Given the description of an element on the screen output the (x, y) to click on. 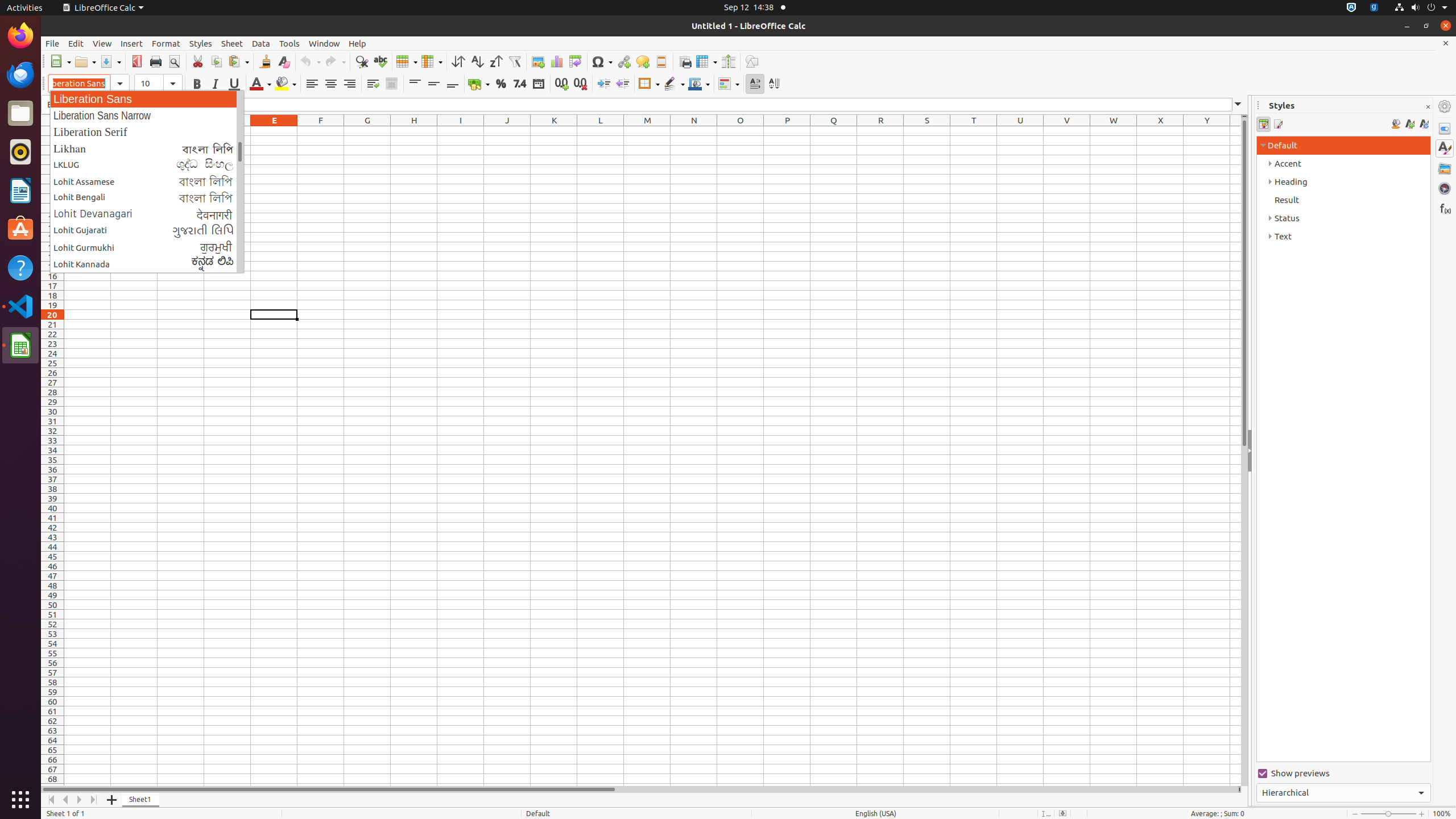
Center Vertically Element type: push-button (433, 83)
Redo Element type: push-button (334, 61)
Column Element type: push-button (431, 61)
Properties Element type: radio-button (1444, 128)
Freeze Rows and Columns Element type: push-button (705, 61)
